Given the description of an element on the screen output the (x, y) to click on. 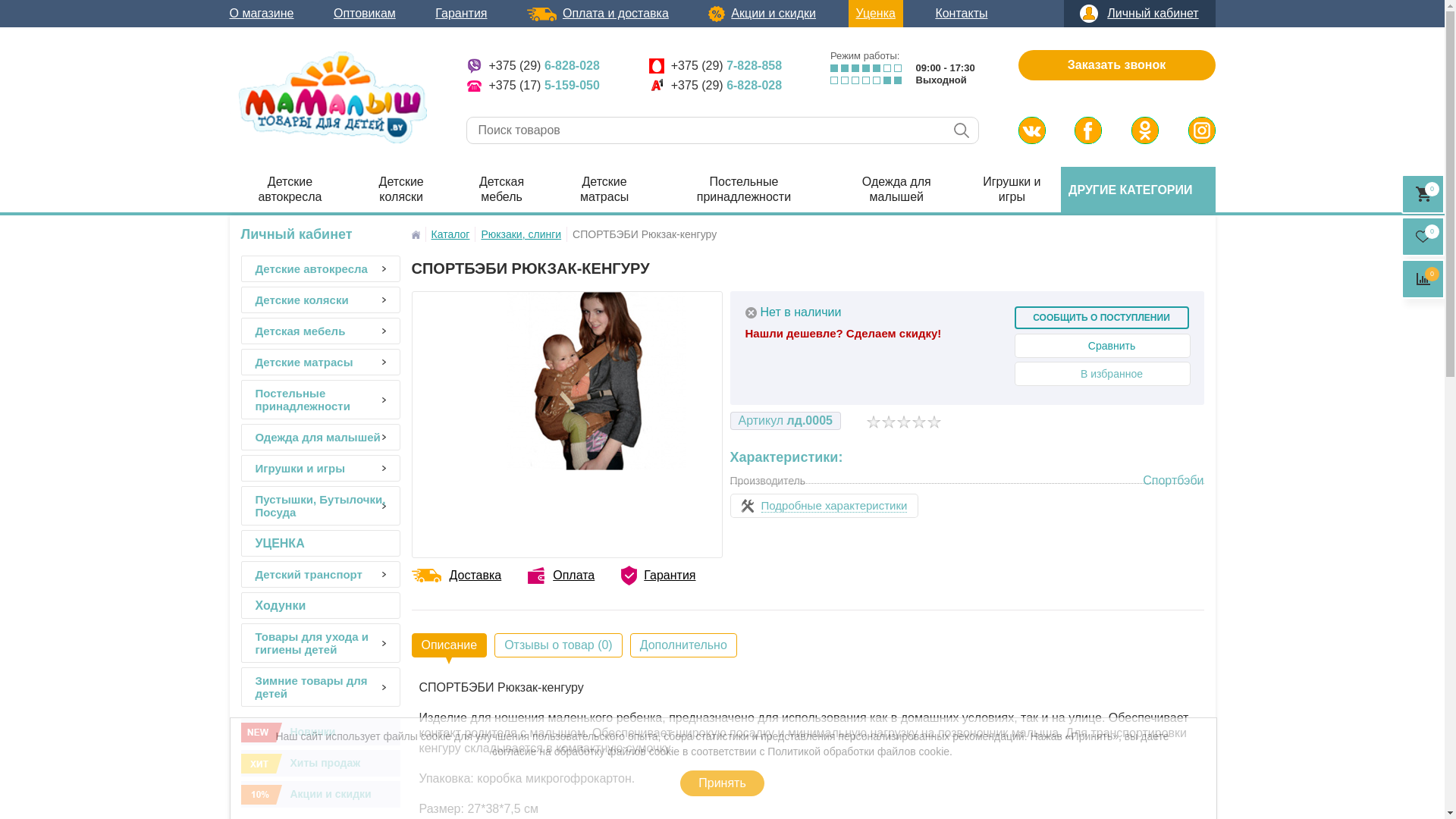
+375 (29) 6-828-028 Element type: text (532, 65)
+375 (29) 7-828-858 Element type: text (714, 65)
0 Element type: text (1422, 236)
+375 (17) 5-159-050 Element type: text (532, 85)
0 Element type: text (1422, 193)
+375 (29) 6-828-028 Element type: text (714, 85)
0 Element type: text (1422, 278)
